Given the description of an element on the screen output the (x, y) to click on. 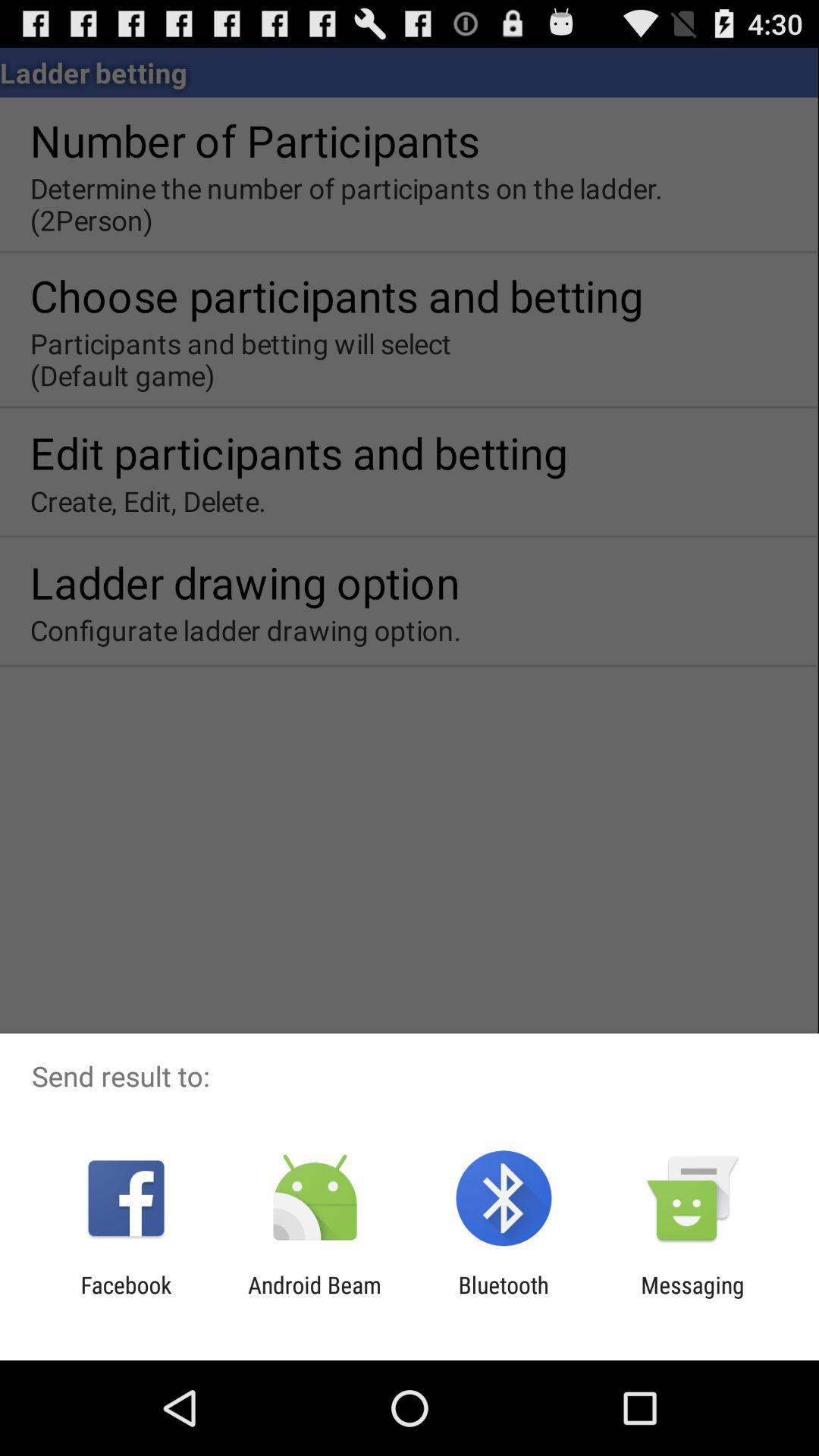
turn on the icon next to messaging icon (503, 1298)
